Given the description of an element on the screen output the (x, y) to click on. 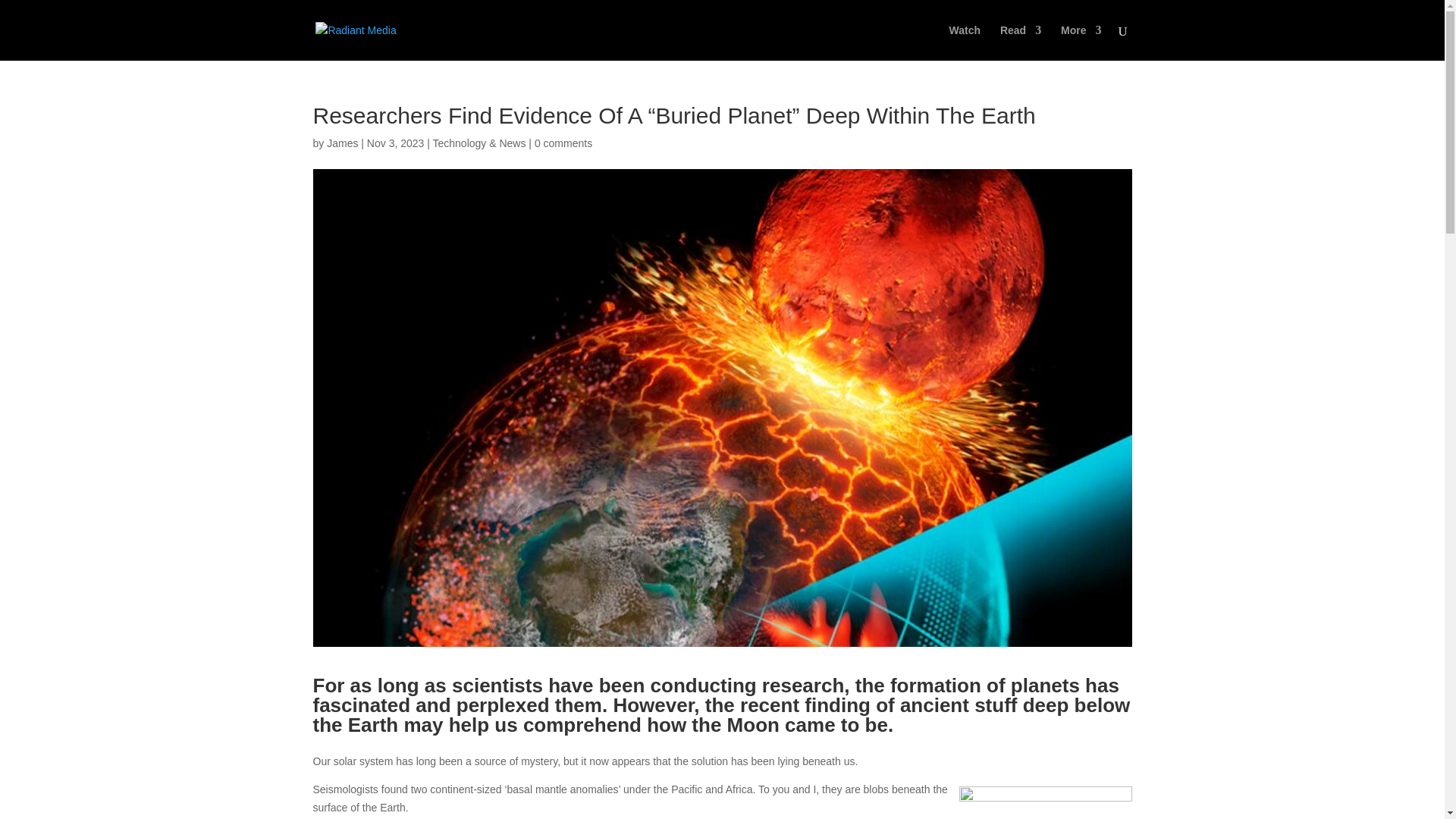
Posts by James (342, 143)
More (1080, 42)
Read (1020, 42)
James (342, 143)
0 comments (563, 143)
